Given the description of an element on the screen output the (x, y) to click on. 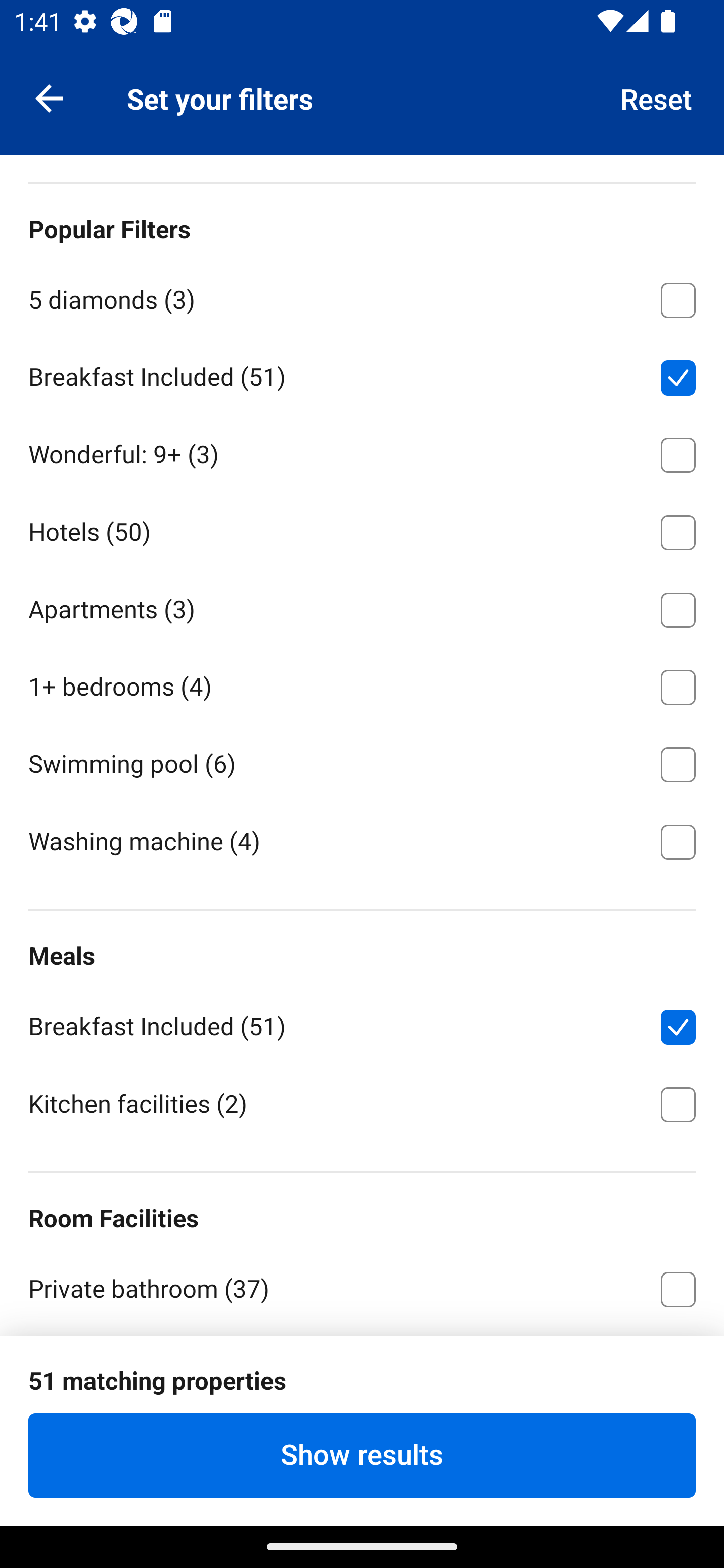
Navigate up (49, 97)
Reset (656, 97)
5 diamonds ⁦(3) (361, 296)
Breakfast Included ⁦(51) (361, 373)
Wonderful: 9+ ⁦(3) (361, 451)
Hotels ⁦(50) (361, 528)
Apartments ⁦(3) (361, 606)
1+ bedrooms ⁦(4) (361, 684)
Swimming pool ⁦(6) (361, 760)
Washing machine ⁦(4) (361, 840)
Breakfast Included ⁦(51) (361, 1023)
Kitchen facilities ⁦(2) (361, 1103)
Private bathroom ⁦(37) (361, 1286)
Show results (361, 1454)
